Given the description of an element on the screen output the (x, y) to click on. 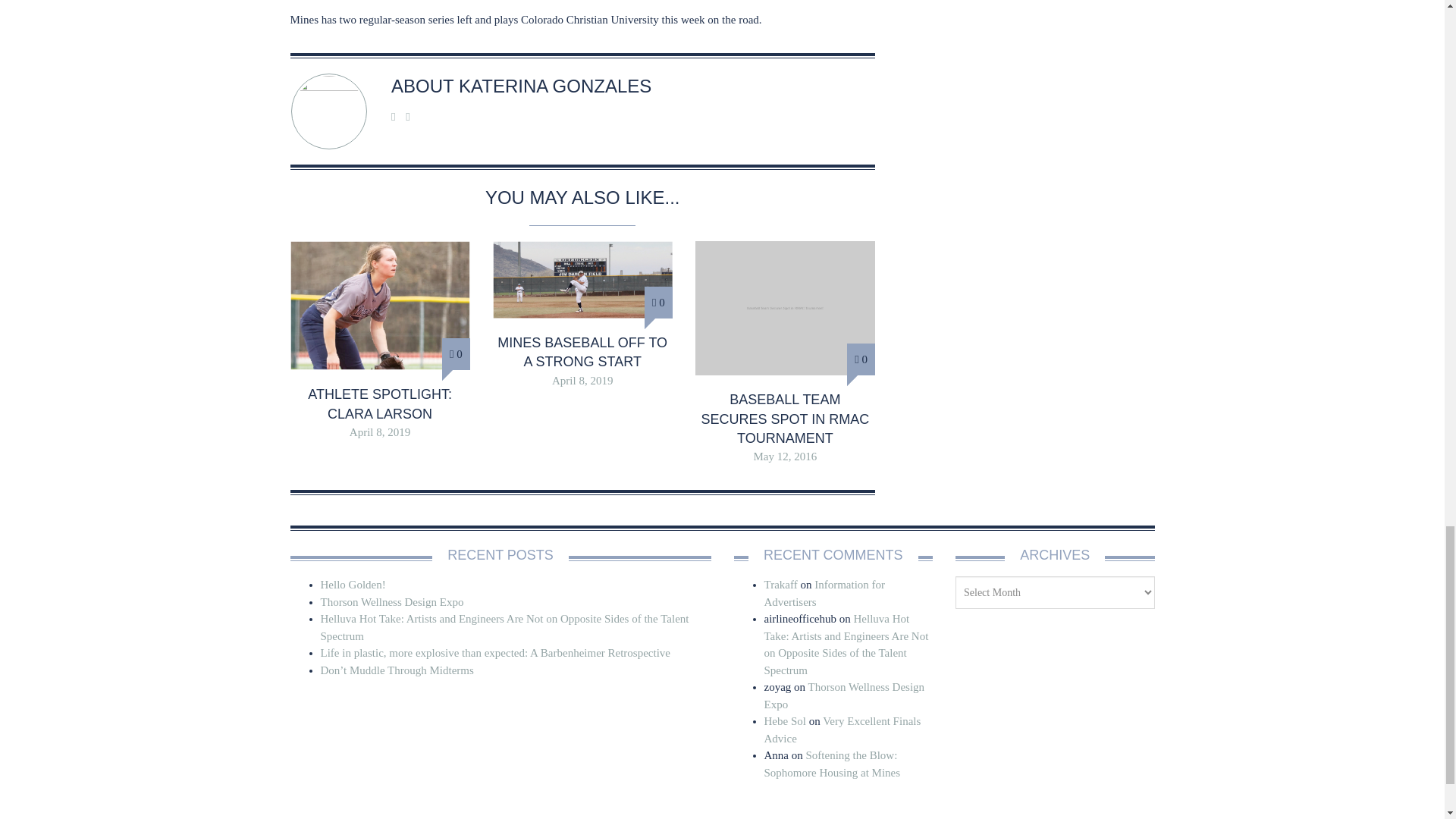
Posts by Katerina Gonzales (554, 86)
